Given the description of an element on the screen output the (x, y) to click on. 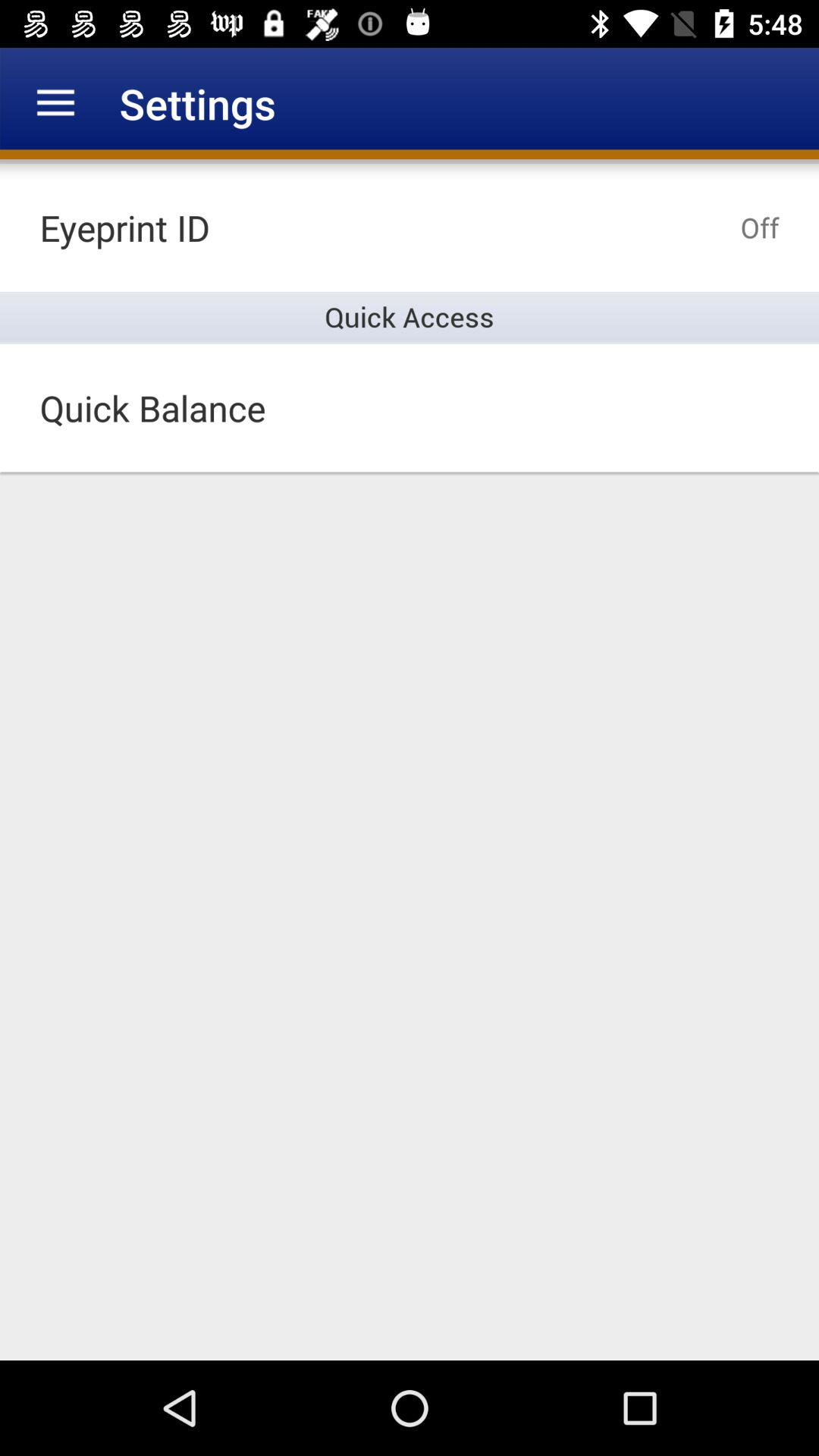
turn on item to the left of the settings icon (55, 103)
